Given the description of an element on the screen output the (x, y) to click on. 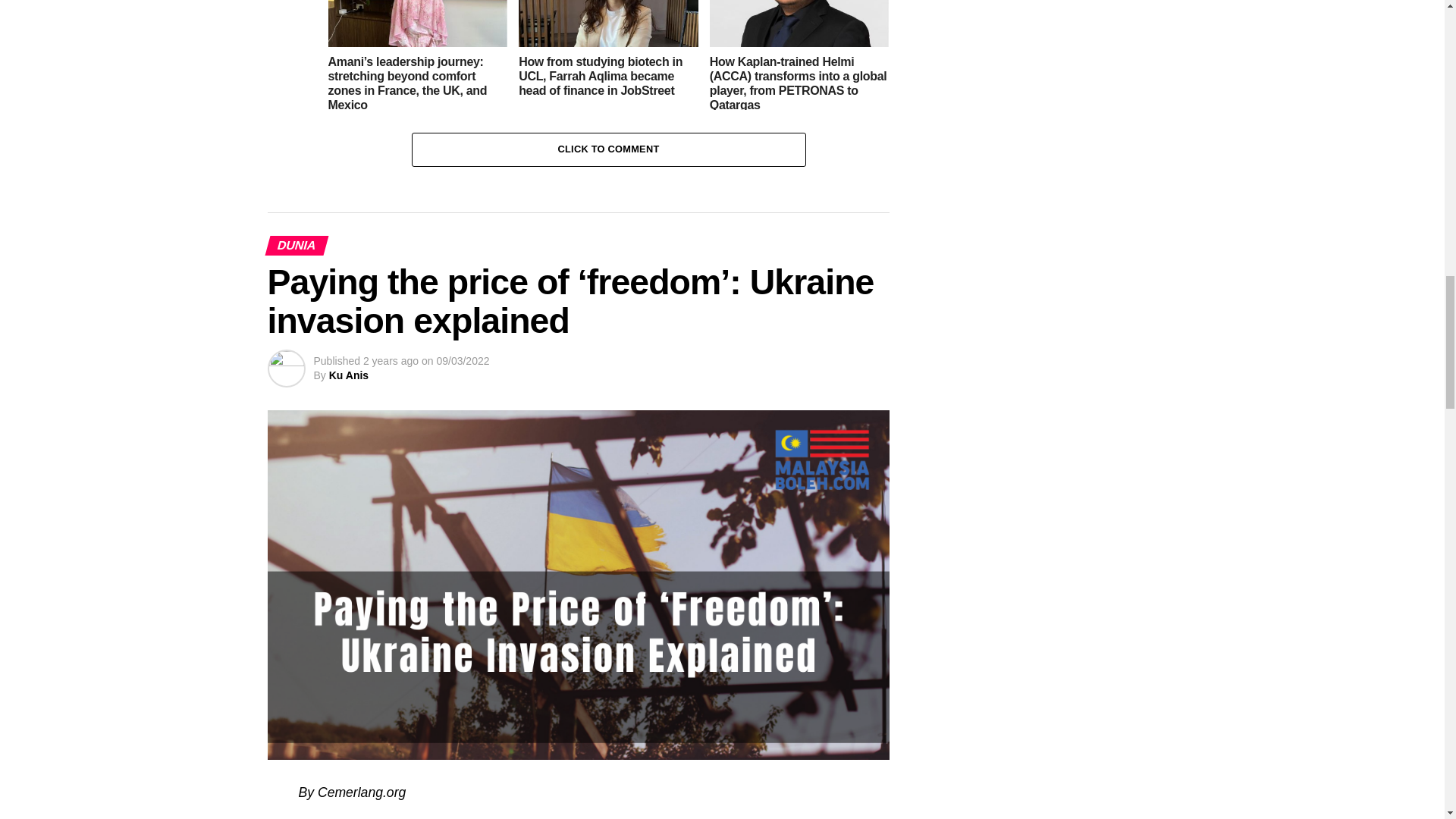
Ku Anis (348, 375)
Posts by Ku Anis (348, 375)
